Given the description of an element on the screen output the (x, y) to click on. 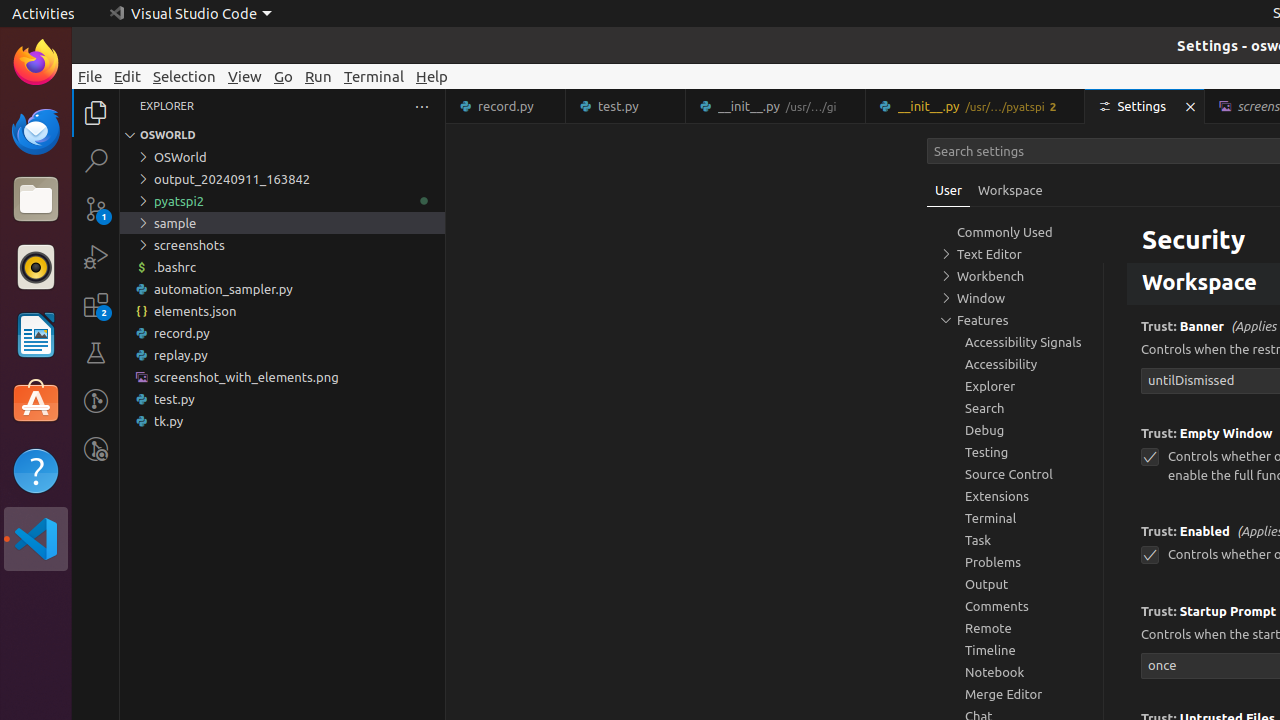
Source Control (Ctrl+Shift+G G) - 1 pending changes Source Control (Ctrl+Shift+G G) - 1 pending changes Element type: page-tab (96, 208)
tk.py Element type: tree-item (282, 421)
File Element type: push-button (90, 76)
Run Element type: push-button (318, 76)
